Given the description of an element on the screen output the (x, y) to click on. 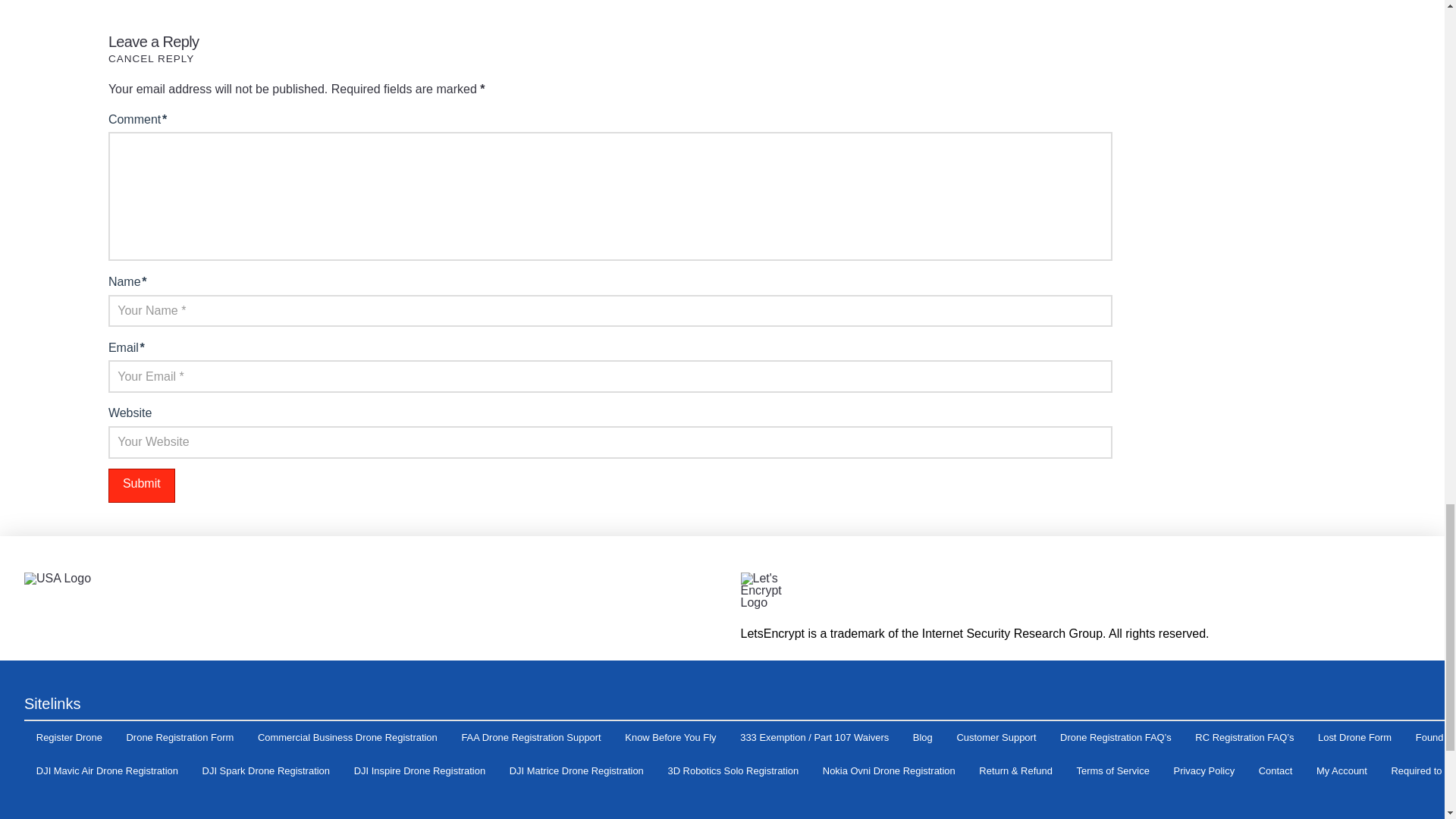
Drone Registration Form (180, 738)
Customer Support (996, 738)
Blog (922, 738)
Commercial Business Drone Registration (347, 738)
Submit (140, 485)
Submit (140, 485)
Know Before You Fly (670, 738)
FAA Drone Registration Support (530, 738)
CANCEL REPLY (151, 58)
Register Drone (69, 738)
